Given the description of an element on the screen output the (x, y) to click on. 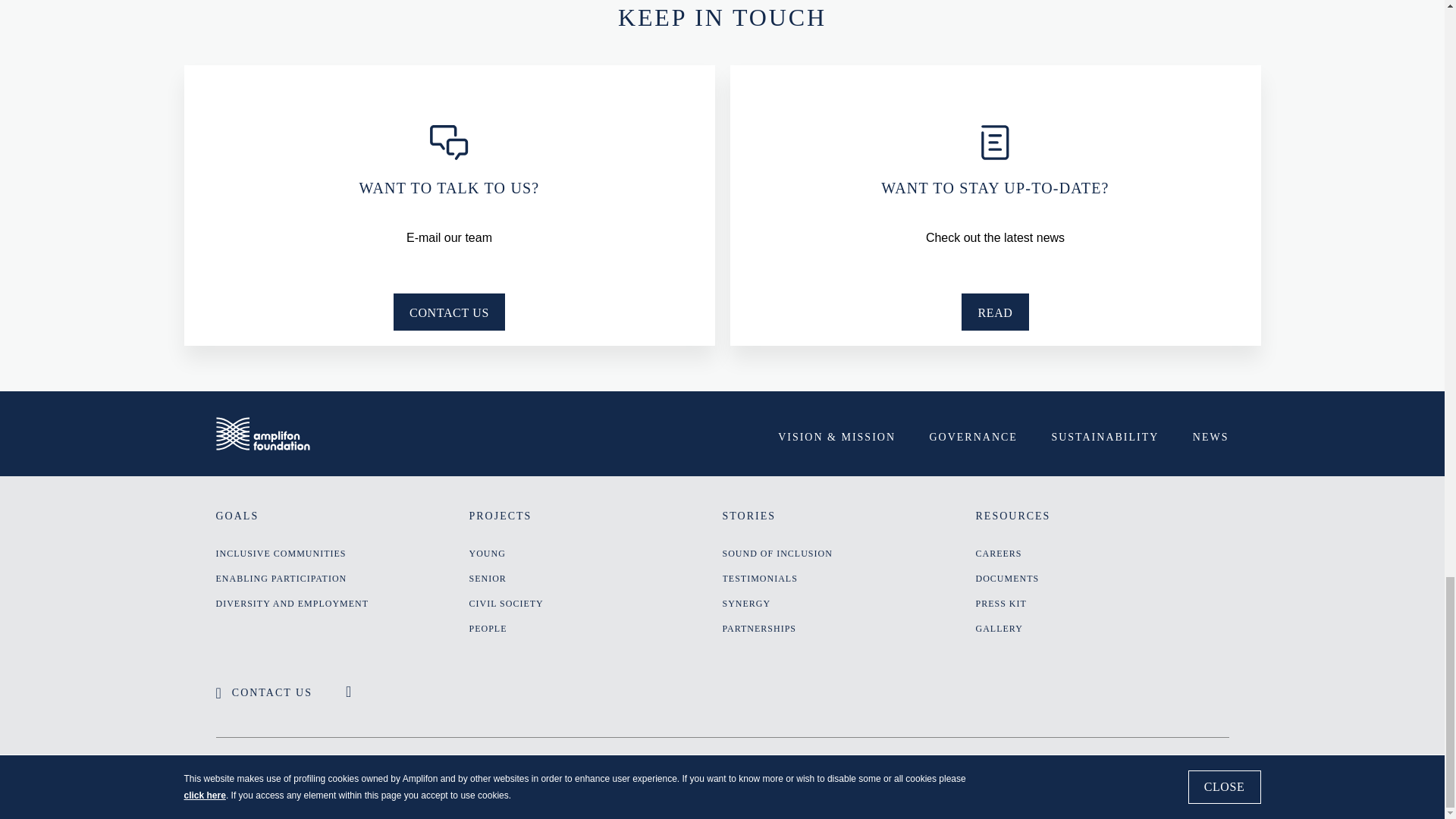
Civil society (595, 603)
People (595, 628)
Diversity and employment (341, 603)
Amplifon (261, 433)
Inclusive Communities (341, 553)
Documents (1101, 578)
Synergy (848, 603)
Careers (1101, 553)
Partnerships (848, 628)
Senior (595, 578)
